Given the description of an element on the screen output the (x, y) to click on. 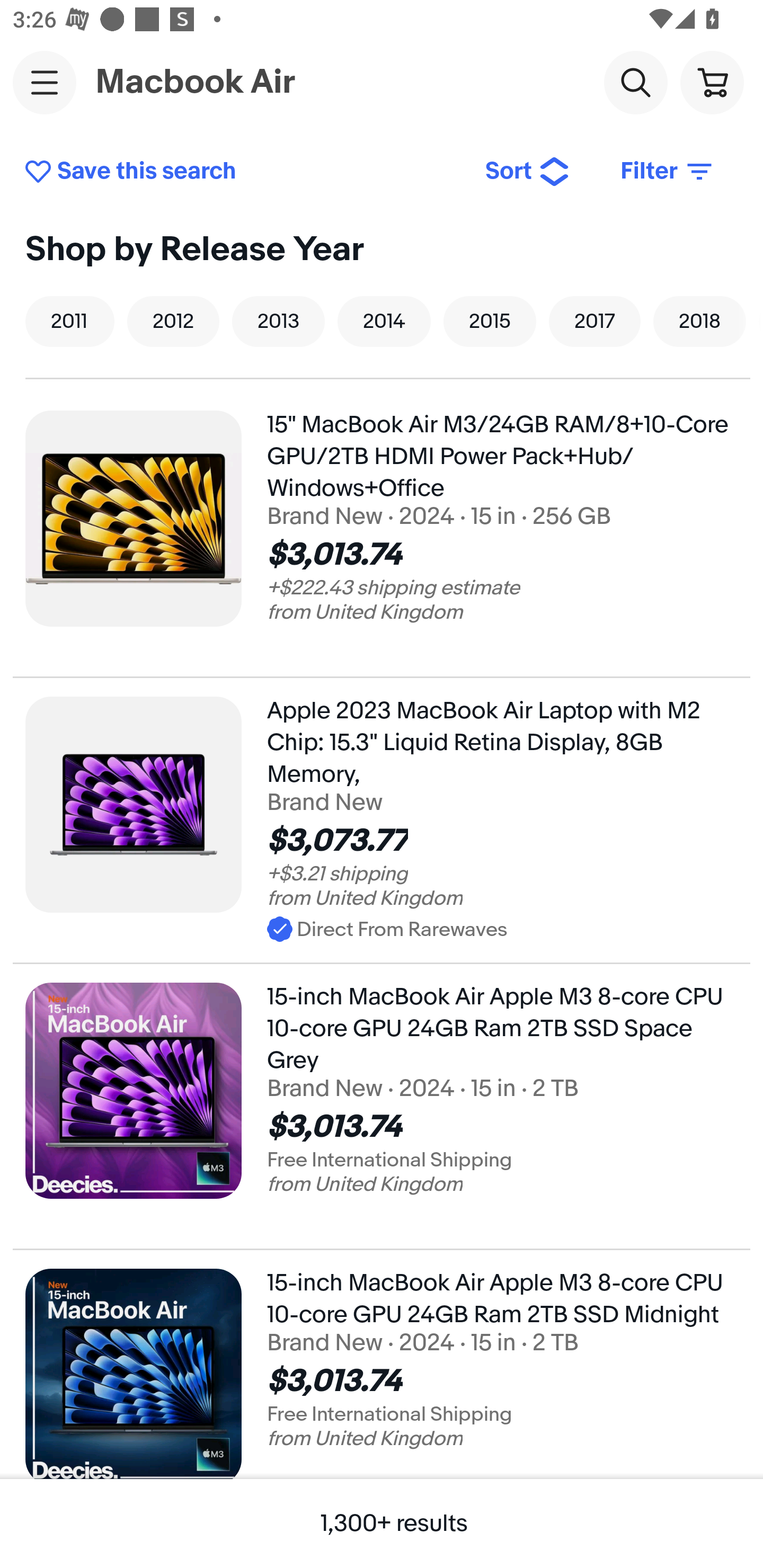
Main navigation, open (44, 82)
Search (635, 81)
Cart button shopping cart (711, 81)
Save this search (241, 171)
Sort (527, 171)
Filter (667, 171)
2011 2011, Release Year (69, 321)
2012 2012, Release Year (173, 321)
2013 2013, Release Year (278, 321)
2014 2014, Release Year (384, 321)
2015 2015, Release Year (489, 321)
2017 2017, Release Year (594, 321)
2018 2018, Release Year (699, 321)
